Given the description of an element on the screen output the (x, y) to click on. 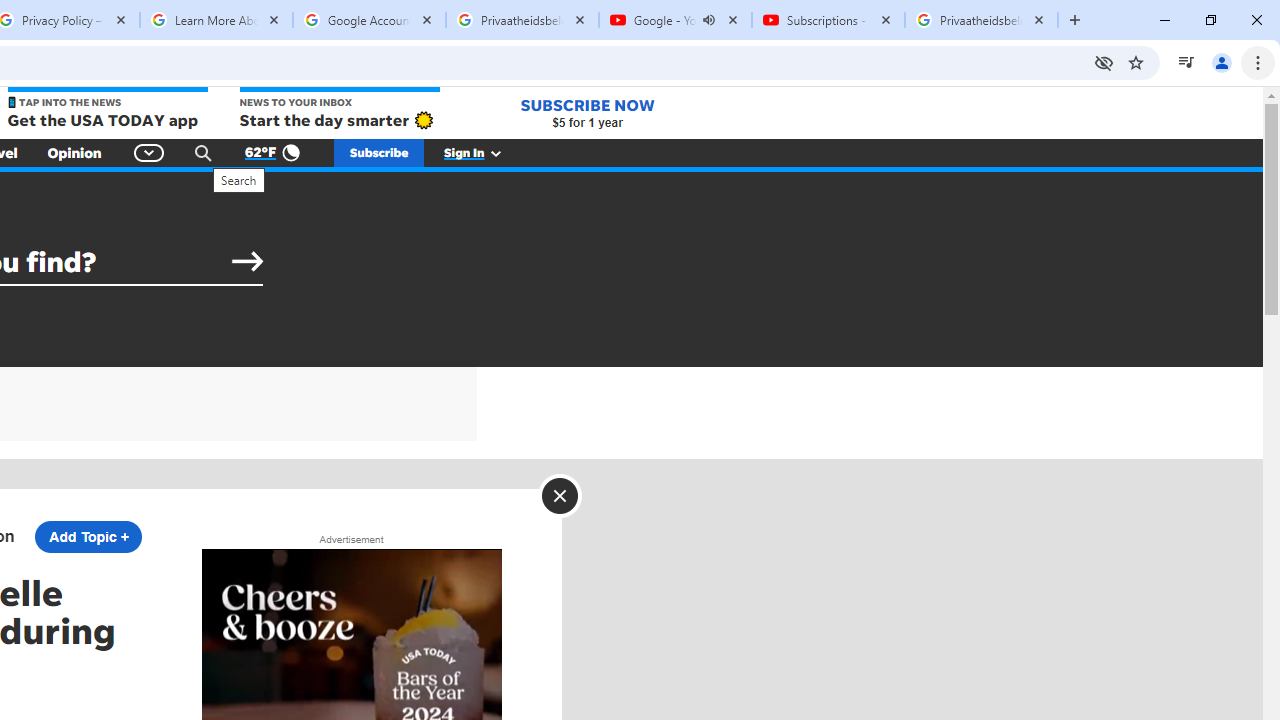
Google Account (369, 20)
Subscriptions - YouTube (827, 20)
Add Topic (88, 536)
Mute tab (708, 20)
Global Navigation (149, 152)
Google - YouTube - Audio playing (675, 20)
Opinion (74, 152)
Subscribe (379, 152)
